Given the description of an element on the screen output the (x, y) to click on. 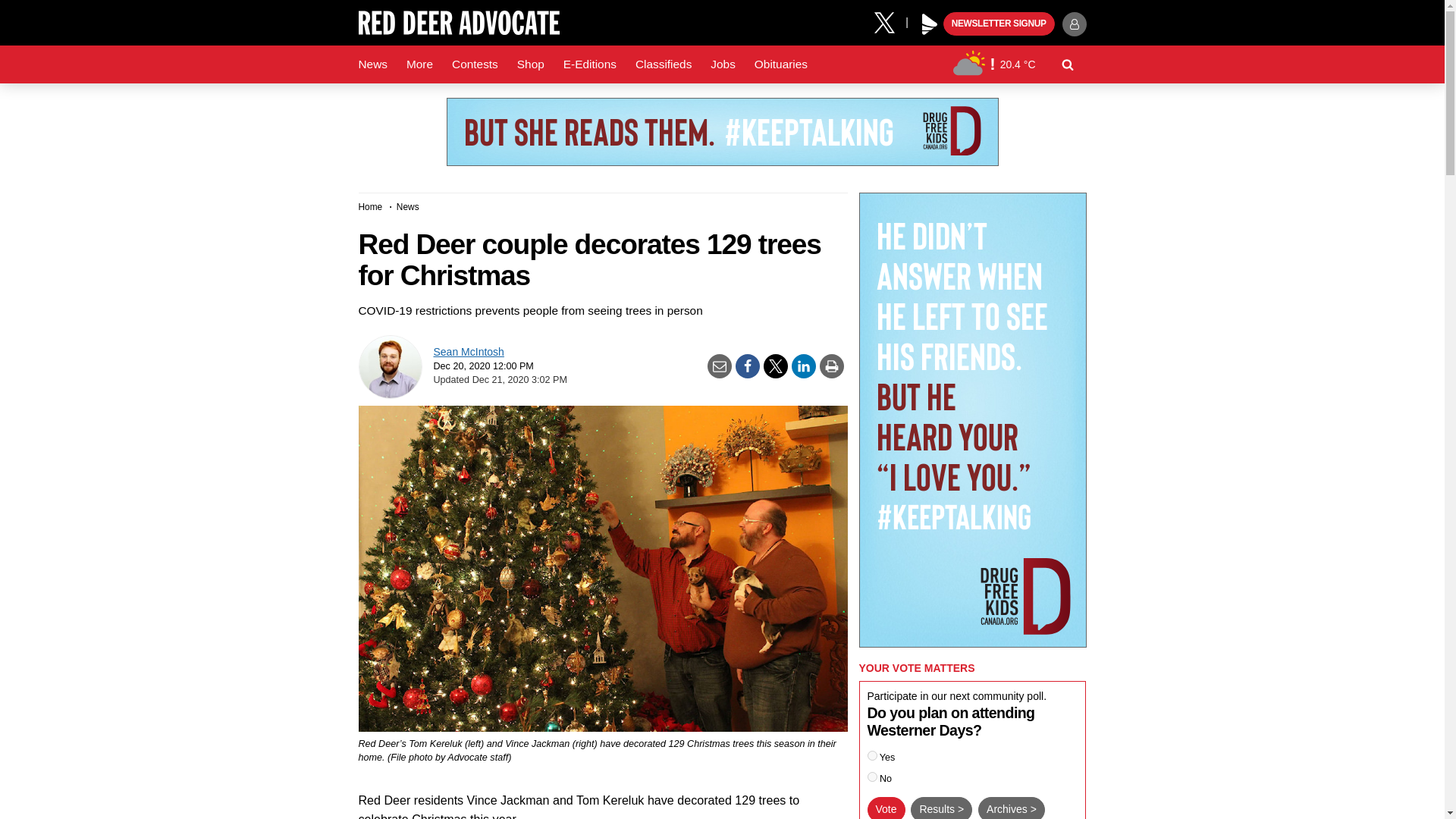
237 (872, 777)
236 (872, 755)
Black Press Media (929, 24)
Play (929, 24)
3rd party ad content (721, 131)
NEWSLETTER SIGNUP (998, 24)
X (889, 21)
News (372, 64)
